Given the description of an element on the screen output the (x, y) to click on. 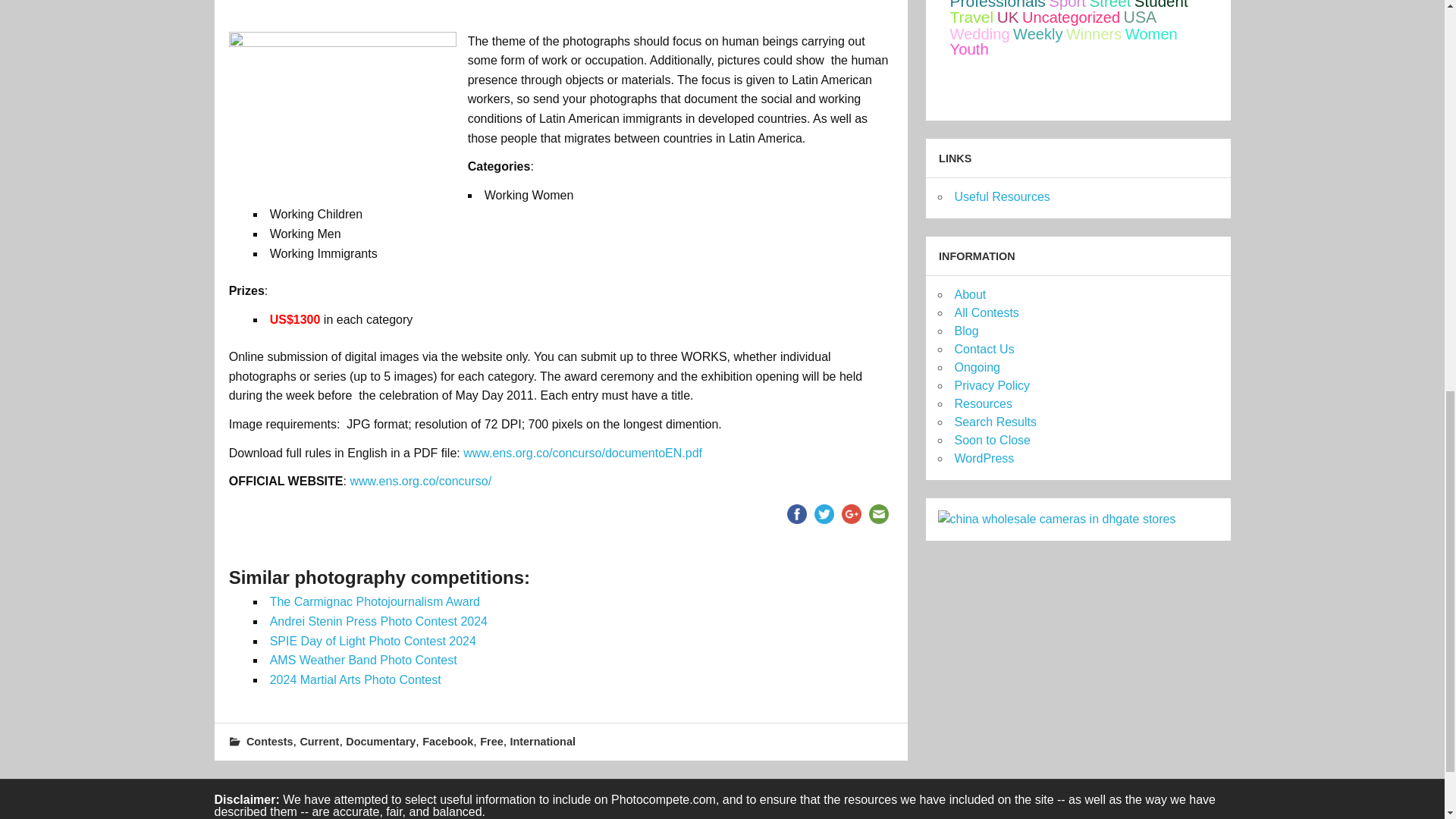
Andrei Stenin Press Photo Contest 2024 (378, 621)
Facebook (447, 741)
The Carmignac Photojournalism Award (374, 601)
Twitter (824, 513)
AMS Weather Band Photo Contest (363, 659)
2024 Martial Arts Photo Contest (355, 679)
Documentary (380, 741)
Contests (270, 741)
Facebook (796, 513)
SPIE Day of Light Photo Contest 2024 (372, 640)
Current (319, 741)
Free (491, 741)
Email (878, 513)
International (543, 741)
